Given the description of an element on the screen output the (x, y) to click on. 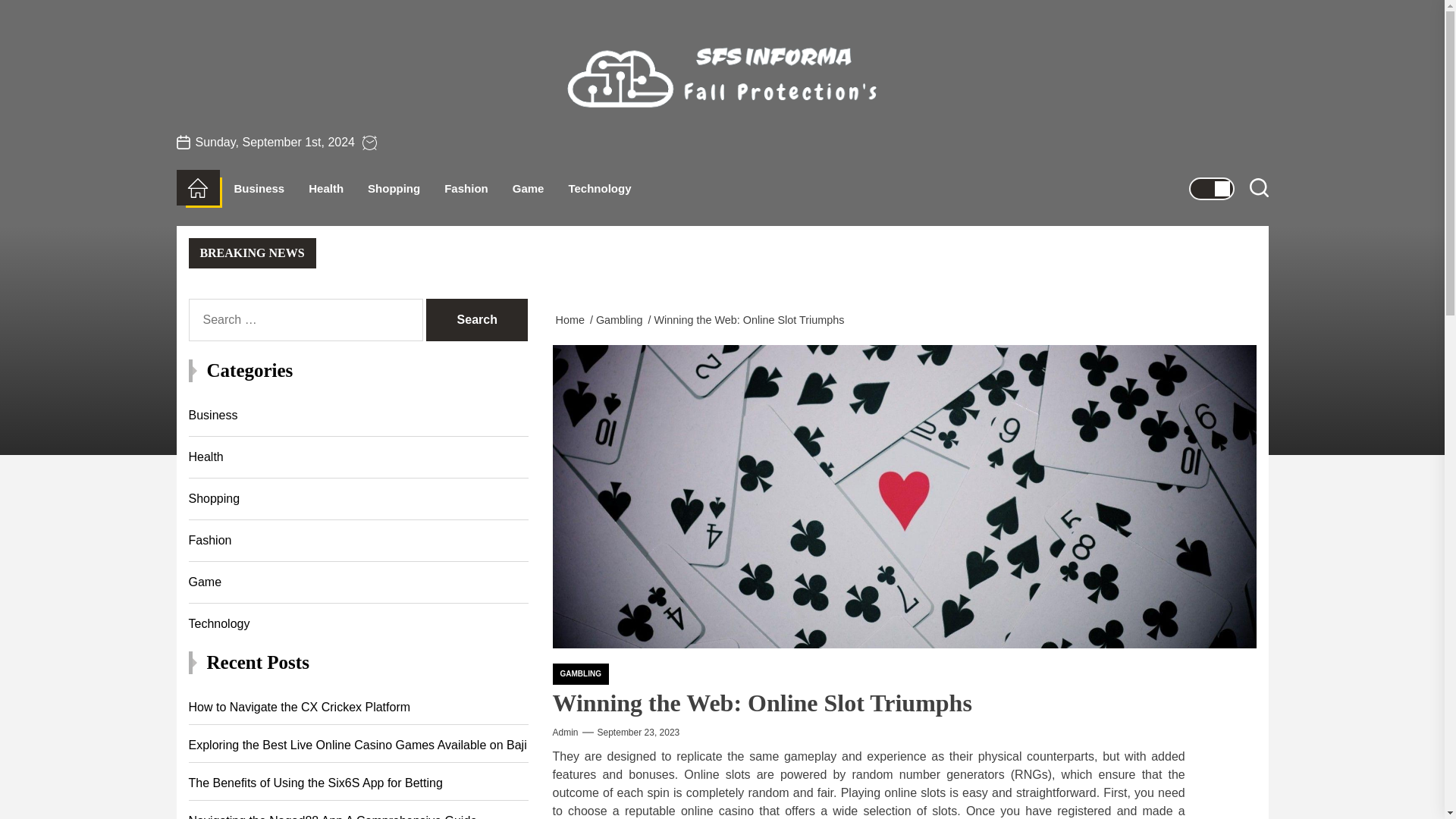
Fashion (465, 188)
Winning the Web: Online Slot Triumphs (750, 319)
Search (476, 319)
Gambling (621, 319)
September 23, 2023 (637, 732)
Game (528, 188)
Business (257, 188)
Home (571, 319)
GAMBLING (579, 673)
Admin (564, 732)
